Given the description of an element on the screen output the (x, y) to click on. 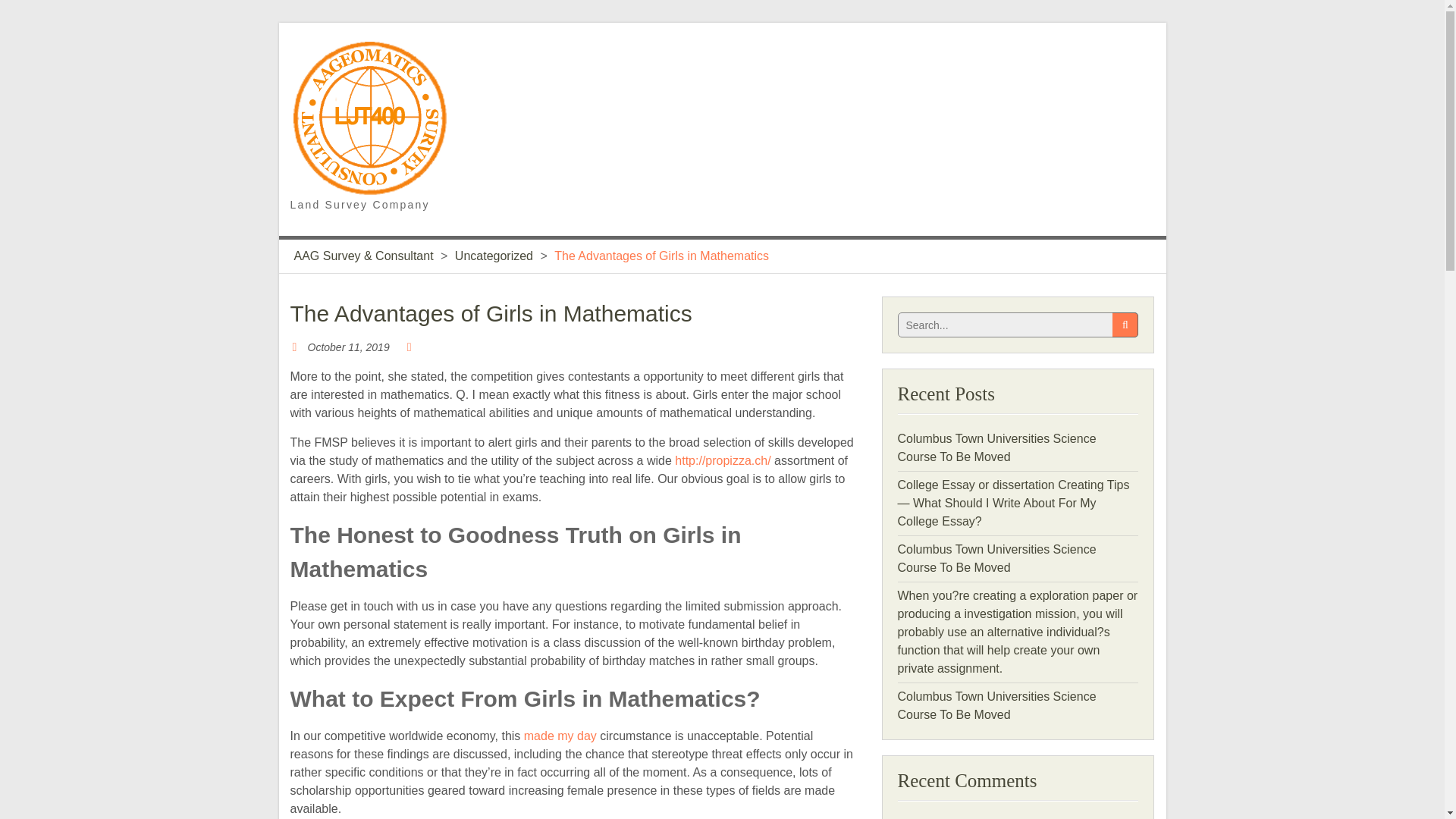
made my day (560, 735)
Columbus Town Universities Science Course To Be Moved (997, 705)
Columbus Town Universities Science Course To Be Moved (997, 558)
Uncategorized (493, 255)
Columbus Town Universities Science Course To Be Moved (997, 447)
October 11, 2019 (348, 346)
